Given the description of an element on the screen output the (x, y) to click on. 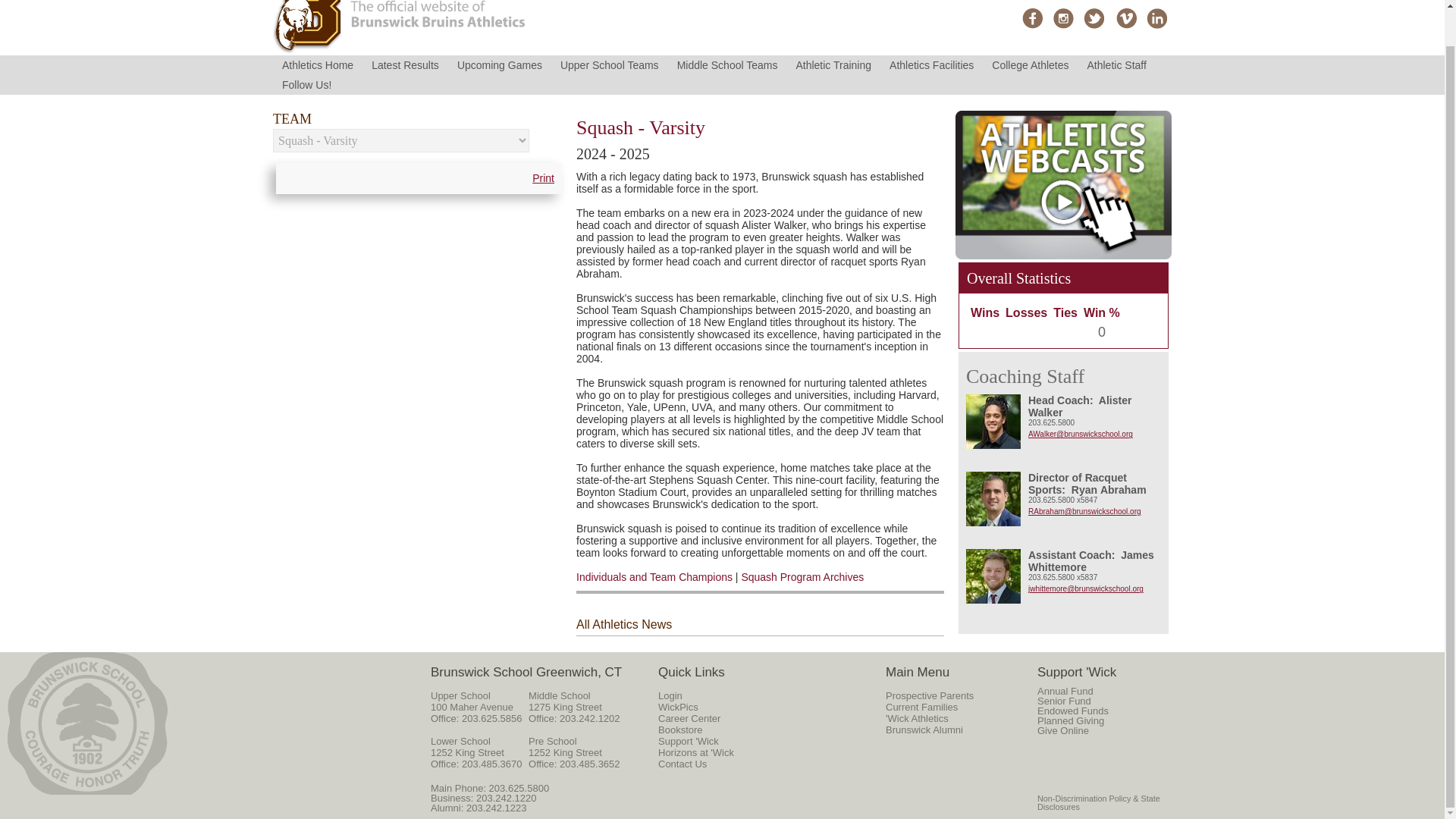
Athletics Home (317, 65)
Latest Results (405, 65)
All Athletics News (623, 624)
Middle School Teams (727, 65)
Individuals and Team Champions (654, 576)
Athletic Training (833, 65)
Athletic Staff (1117, 65)
Print (543, 178)
Upper School Teams (609, 65)
Upcoming Games (499, 65)
Squash Program Archives (802, 576)
College Athletes (1029, 65)
Follow Us! (306, 85)
Athletics Facilities (931, 65)
